Given the description of an element on the screen output the (x, y) to click on. 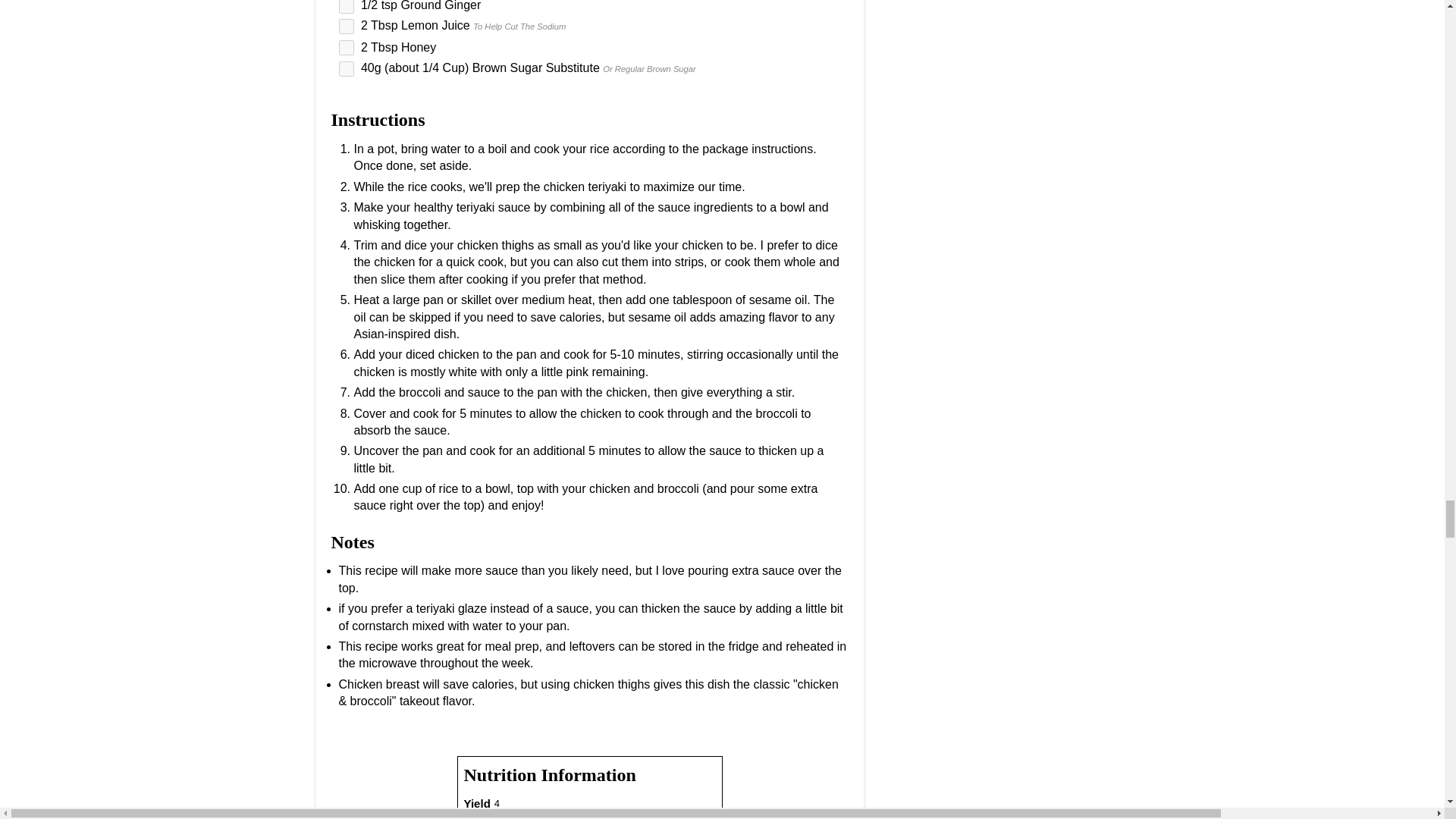
on (345, 47)
on (345, 26)
on (345, 6)
on (345, 68)
